Given the description of an element on the screen output the (x, y) to click on. 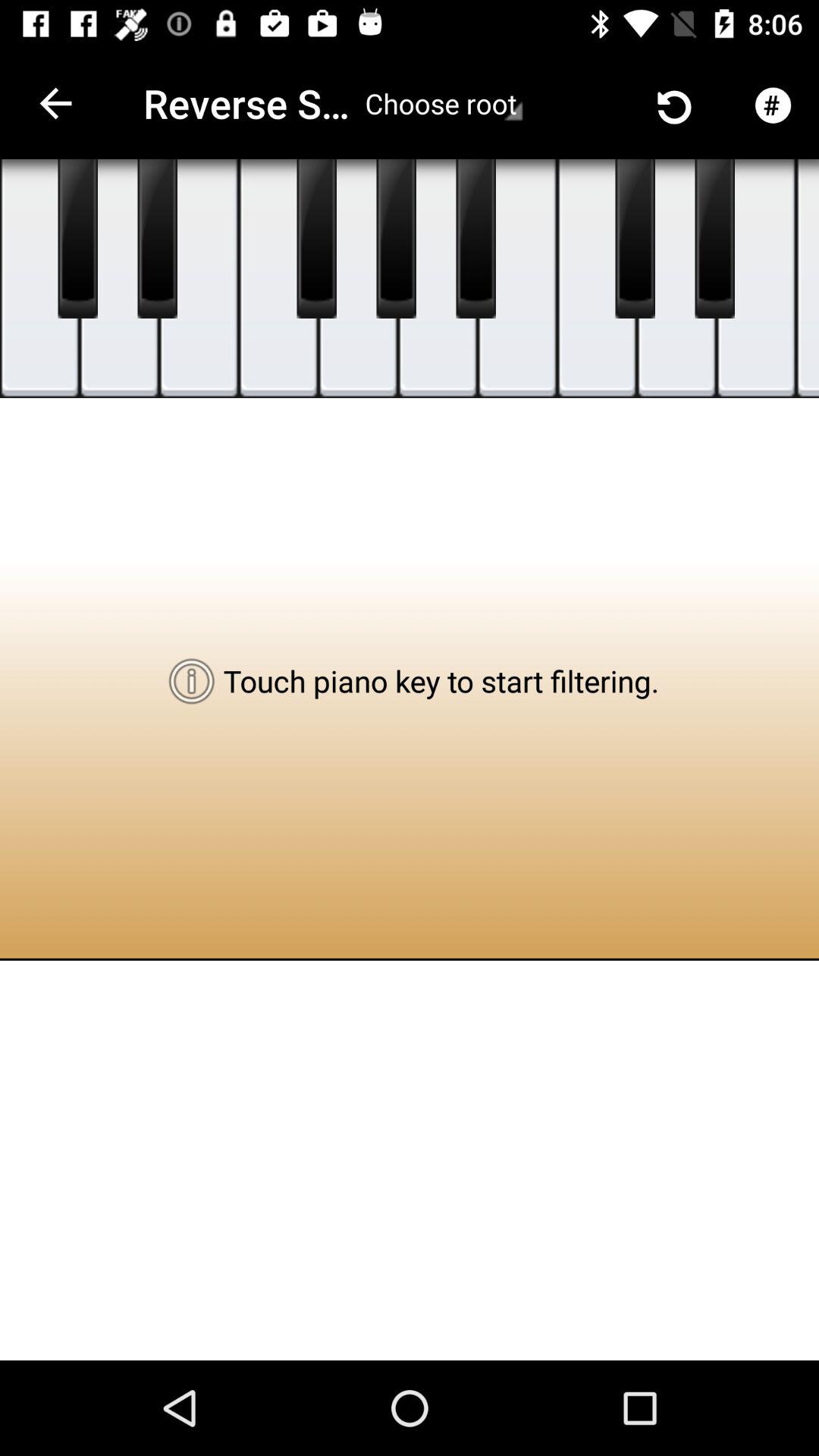
keys (119, 278)
